Given the description of an element on the screen output the (x, y) to click on. 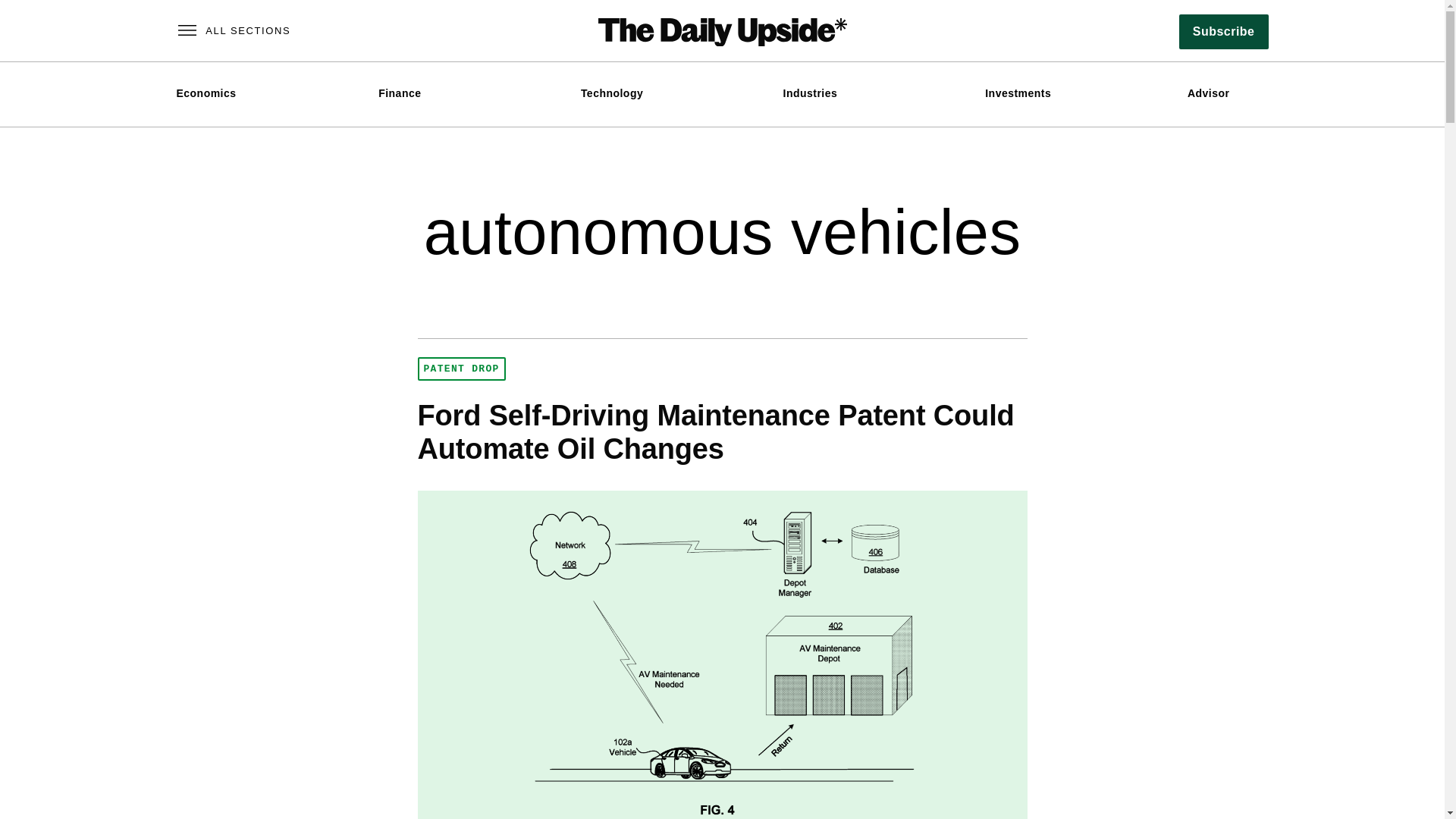
Industry articles (810, 93)
Finance Articles (399, 93)
Economics Articles (205, 93)
Advisor articles (1208, 93)
Technology articles (611, 93)
Investment articles (1018, 93)
